Given the description of an element on the screen output the (x, y) to click on. 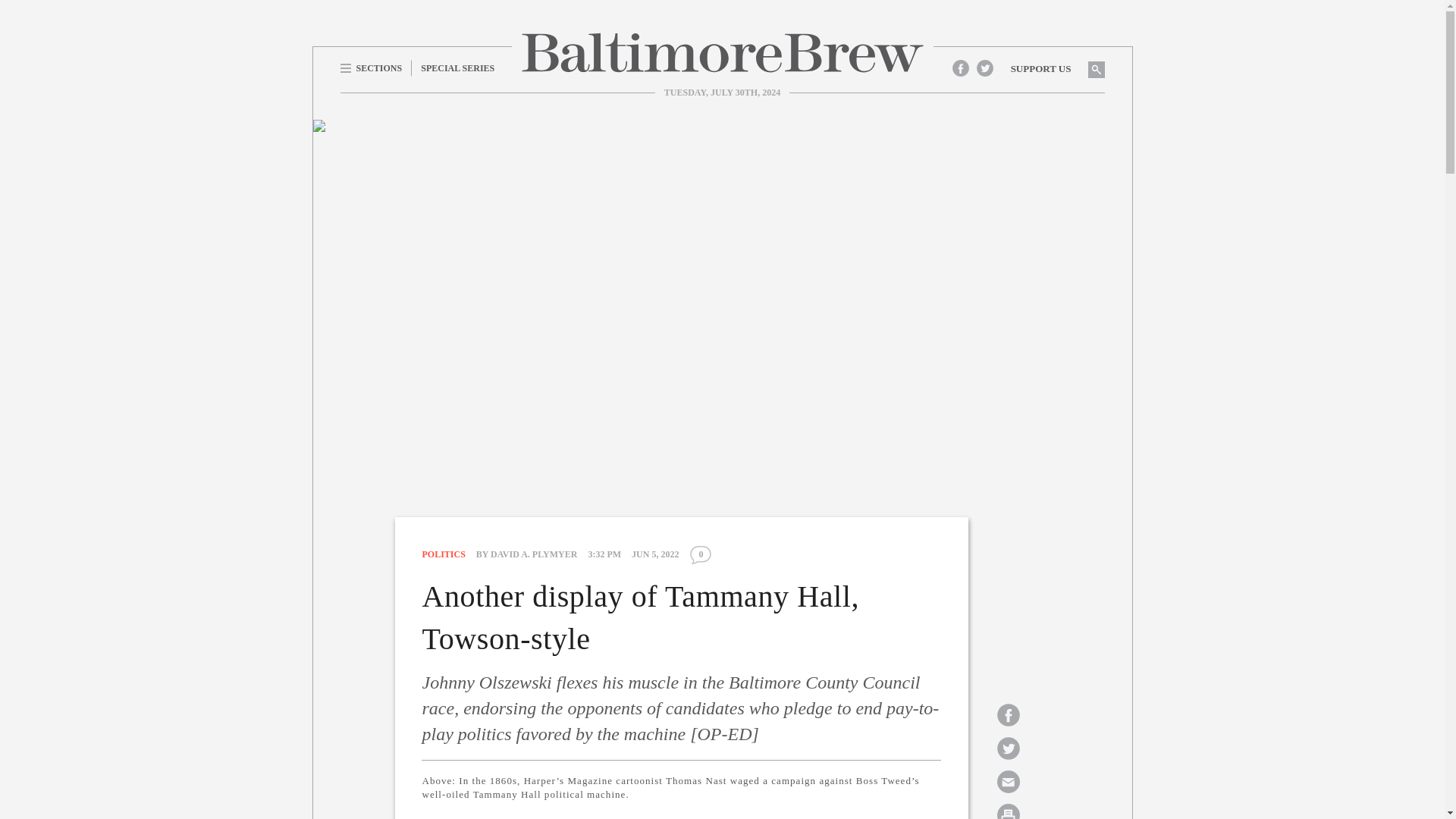
POLITICS (443, 553)
Share on Twitter (1008, 748)
Share on Facebook (1008, 714)
Twitter (984, 67)
SECTIONS (374, 67)
Facebook (960, 67)
Email this article (1008, 781)
Print this article (1008, 810)
SUPPORT US (1040, 68)
SPECIAL SERIES (457, 67)
0 (699, 554)
